Given the description of an element on the screen output the (x, y) to click on. 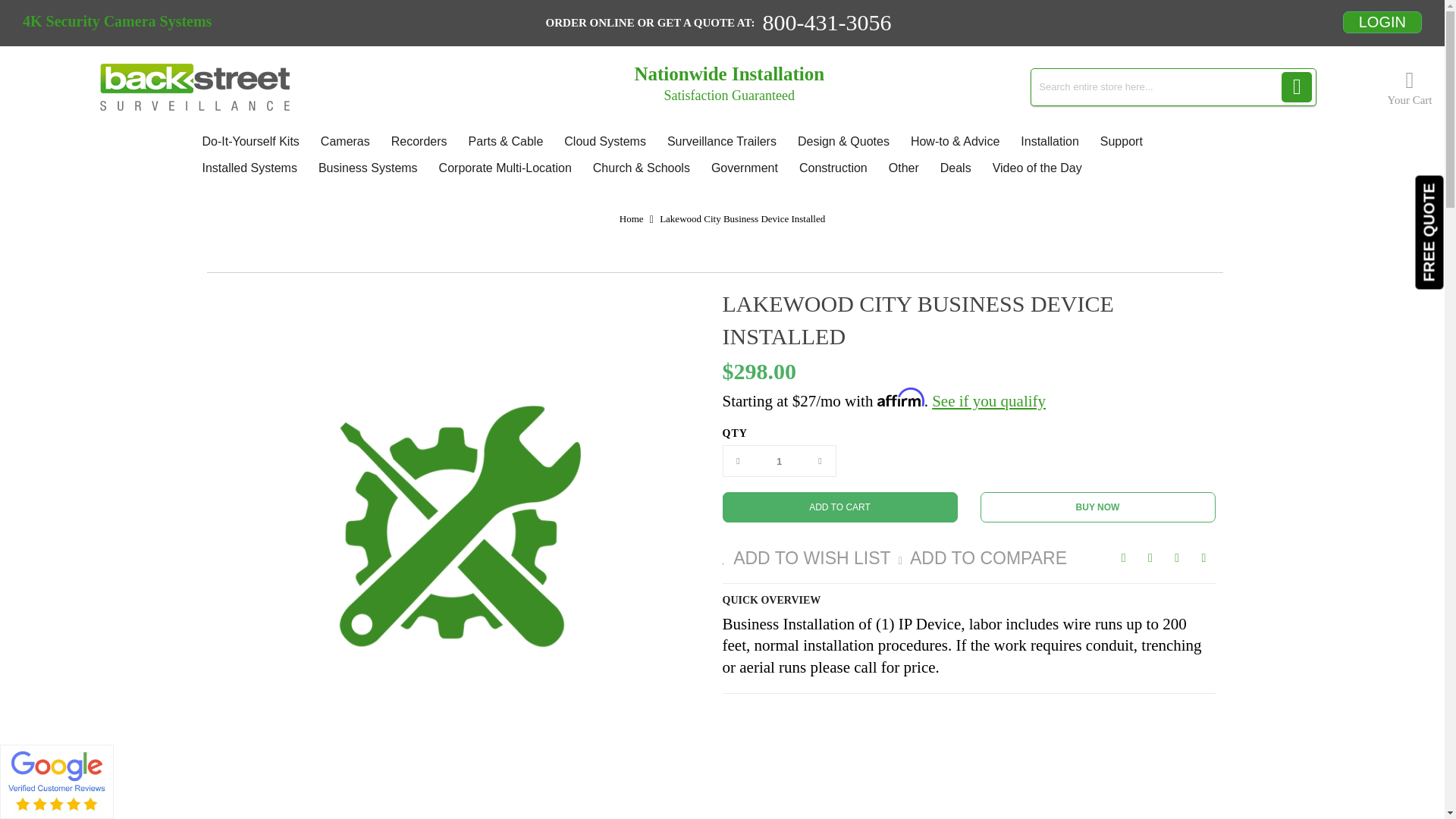
Search (1296, 87)
LOGIN (1382, 21)
Go to Home Page (631, 218)
Login (1382, 21)
LOGIN (1382, 22)
Do-It-Yourself Kits (249, 141)
1 (779, 460)
Qty (779, 460)
Share on Facebook (1123, 557)
SEARCH (1296, 87)
Decrease (738, 460)
Buy Now (1096, 507)
Increase (820, 460)
Add to Cart (839, 507)
Pin this (1203, 557)
